Given the description of an element on the screen output the (x, y) to click on. 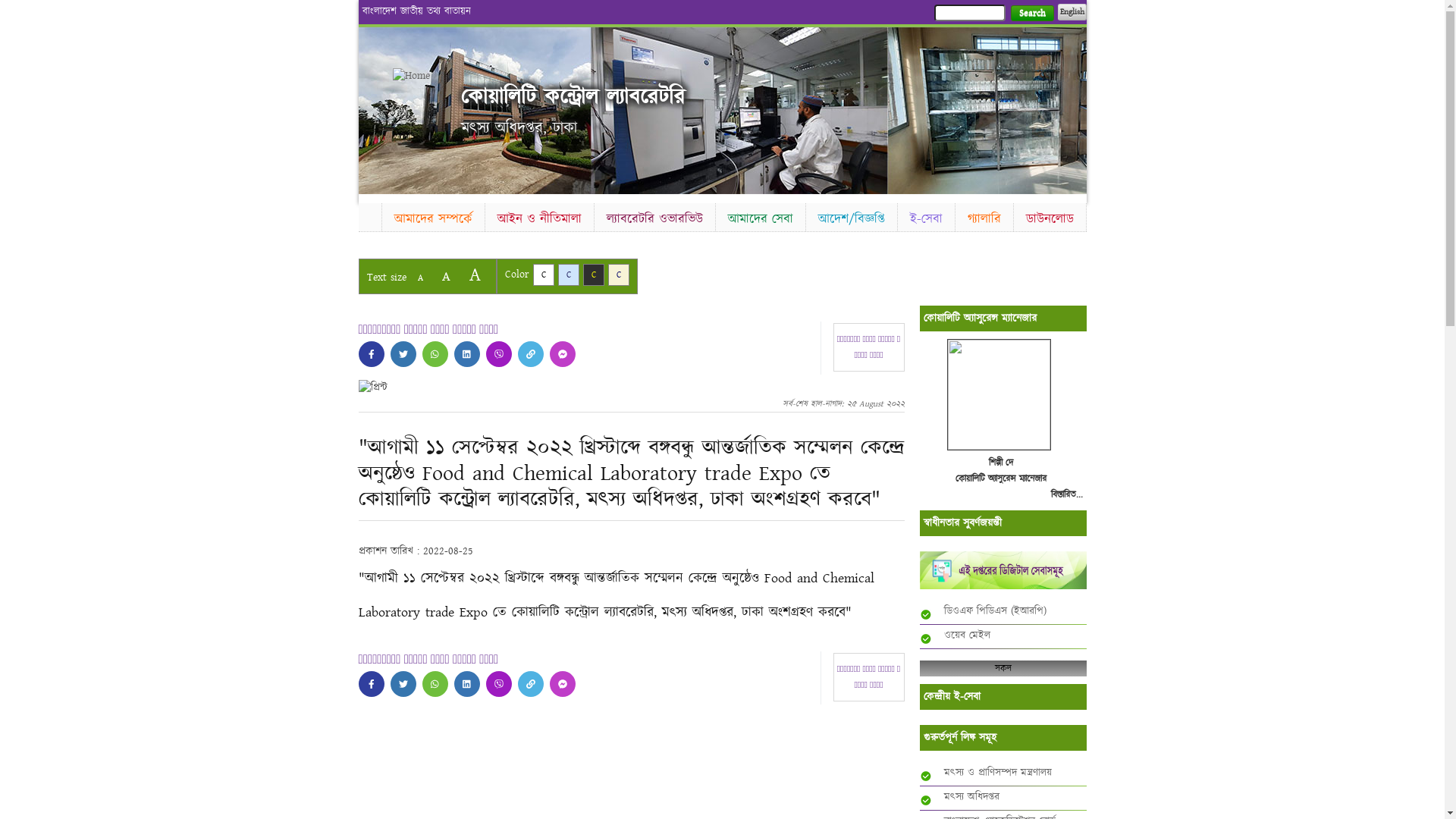
Search Element type: text (1031, 13)
C Element type: text (618, 274)
C Element type: text (568, 274)
C Element type: text (542, 274)
C Element type: text (592, 274)
A Element type: text (419, 277)
A Element type: text (445, 276)
English Element type: text (1071, 11)
Home Element type: hover (368, 215)
Home Element type: hover (418, 76)
A Element type: text (474, 274)
